Given the description of an element on the screen output the (x, y) to click on. 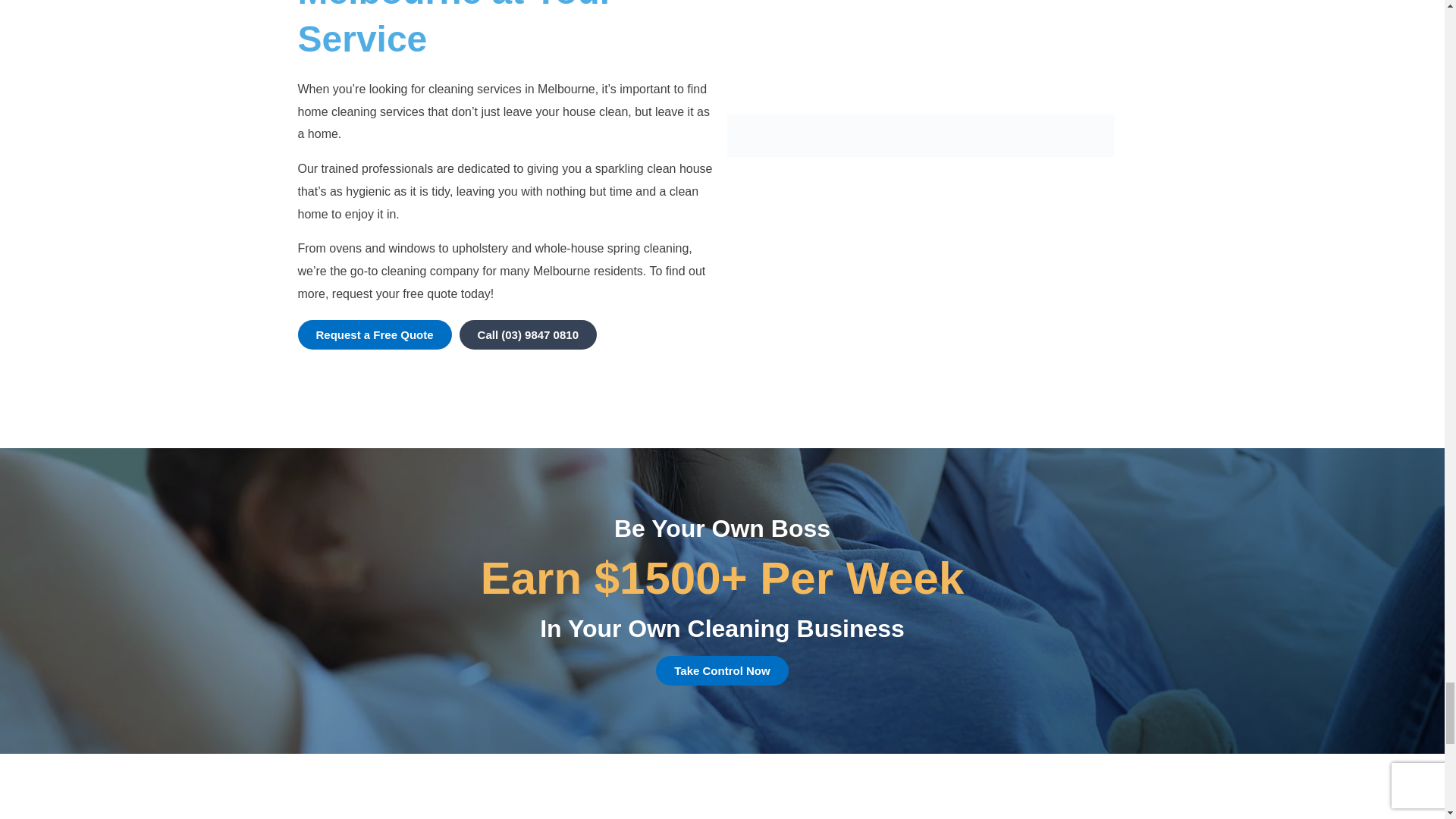
House Cleaners in Burwood (919, 135)
